Given the description of an element on the screen output the (x, y) to click on. 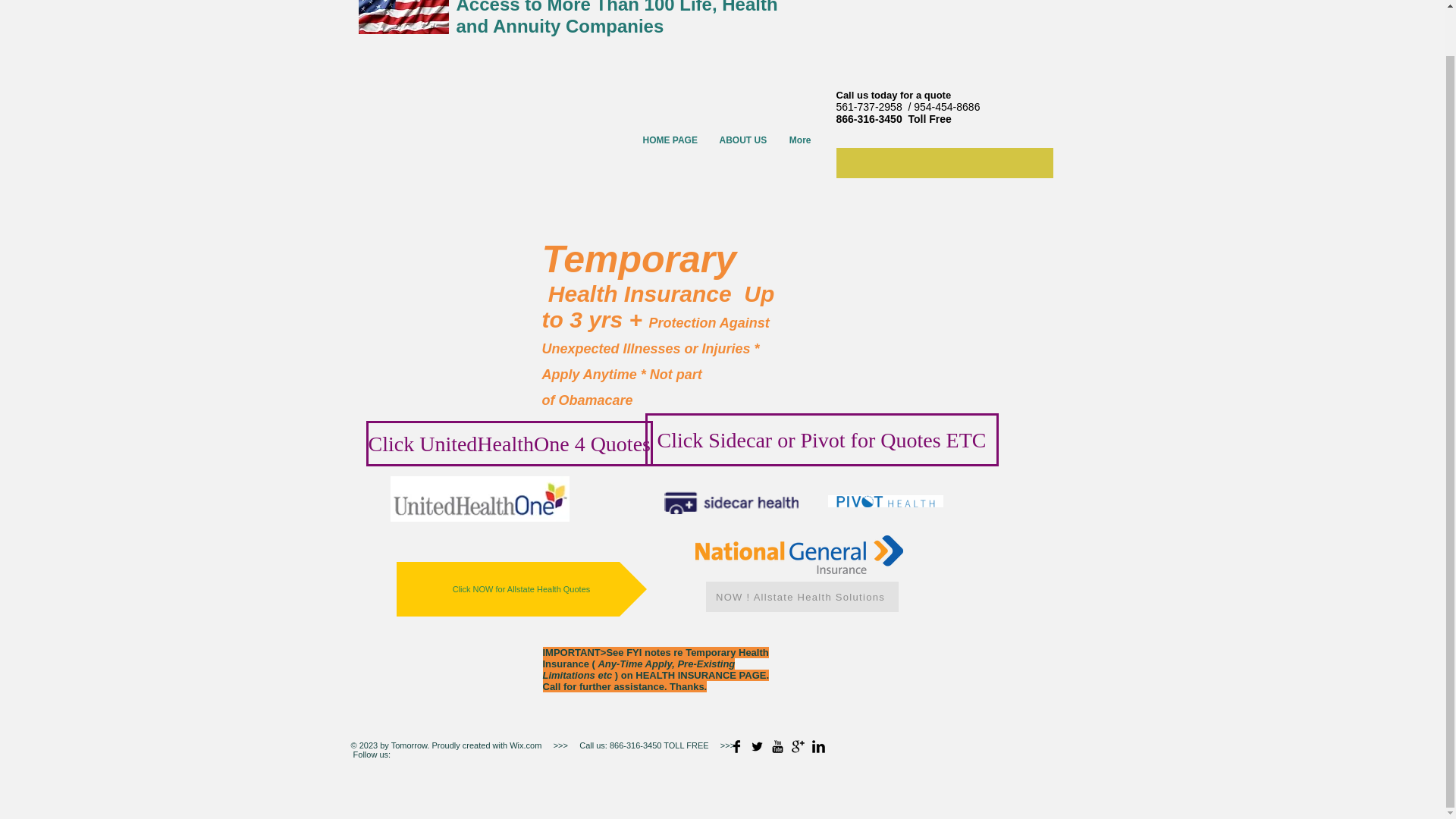
ABOUT US (742, 140)
NOW ! Allstate Health Solutions (801, 596)
Wix.com (523, 745)
Click NOW for Allstate Health Quotes (521, 588)
HOME PAGE (668, 140)
ccess to More Than 100 Life, Health and Annuity Companies (617, 18)
American flag waving (403, 17)
